Given the description of an element on the screen output the (x, y) to click on. 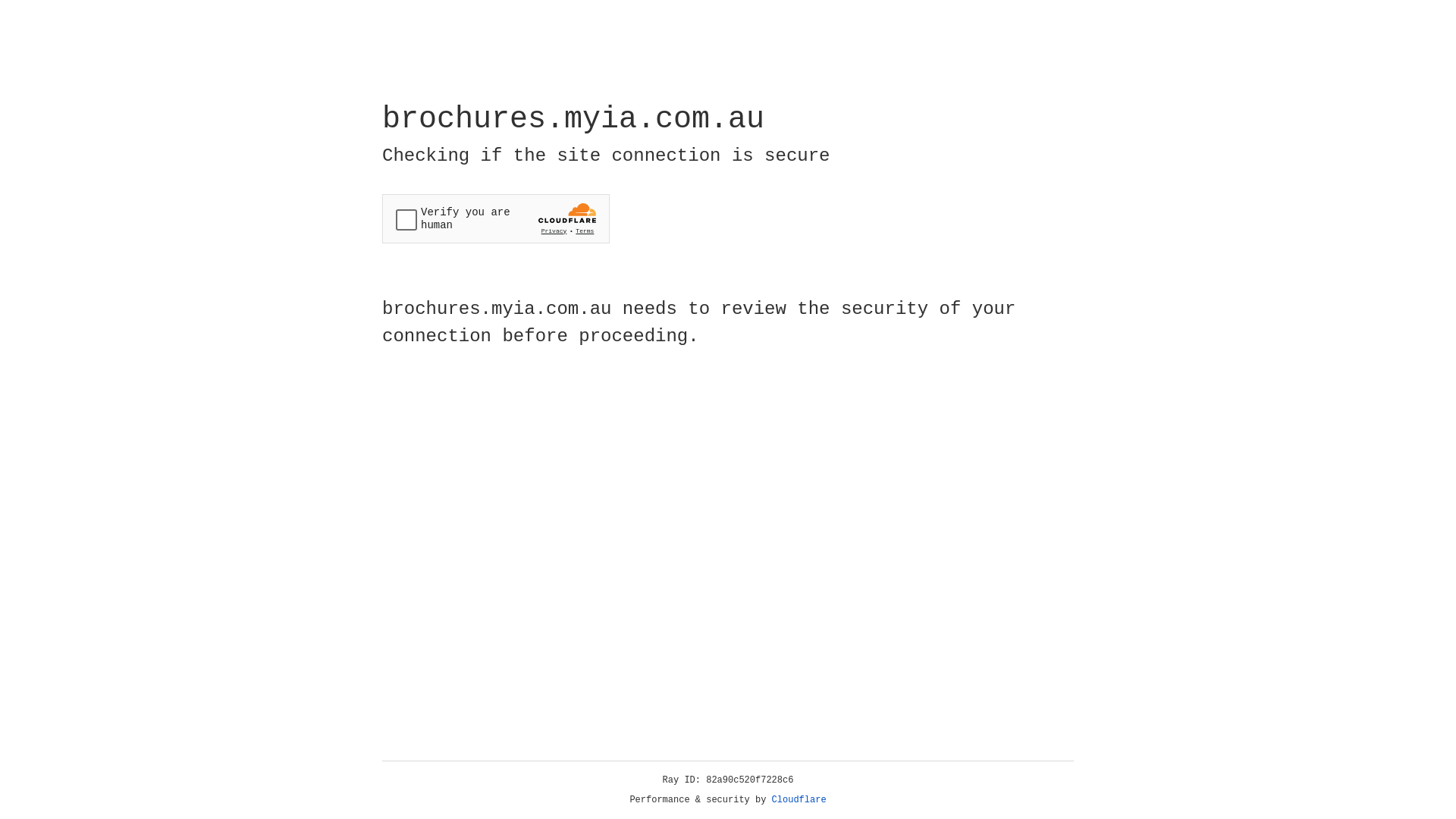
Cloudflare Element type: text (798, 799)
Widget containing a Cloudflare security challenge Element type: hover (495, 218)
